Given the description of an element on the screen output the (x, y) to click on. 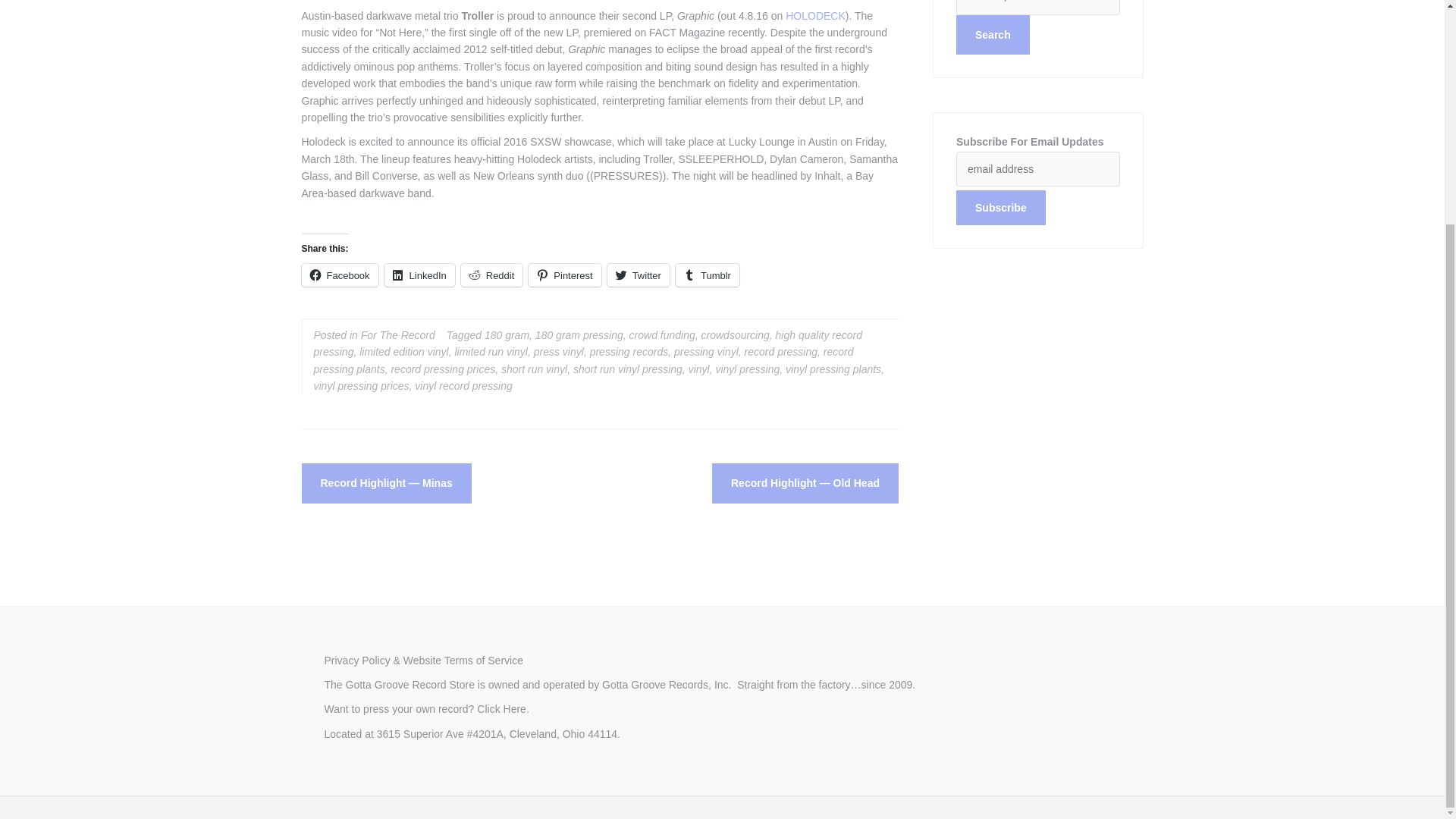
Facebook (339, 274)
Twitter (638, 274)
Click to share on Reddit (491, 274)
pressing records (628, 351)
Click to share on Twitter (638, 274)
180 gram (506, 335)
Click to share on LinkedIn (419, 274)
Click to share on Pinterest (563, 274)
Click to share on Tumblr (707, 274)
limited edition vinyl (403, 351)
limited run vinyl (490, 351)
180 gram pressing (579, 335)
Subscribe (1000, 207)
For The Record (398, 335)
Click to share on Facebook (339, 274)
